Given the description of an element on the screen output the (x, y) to click on. 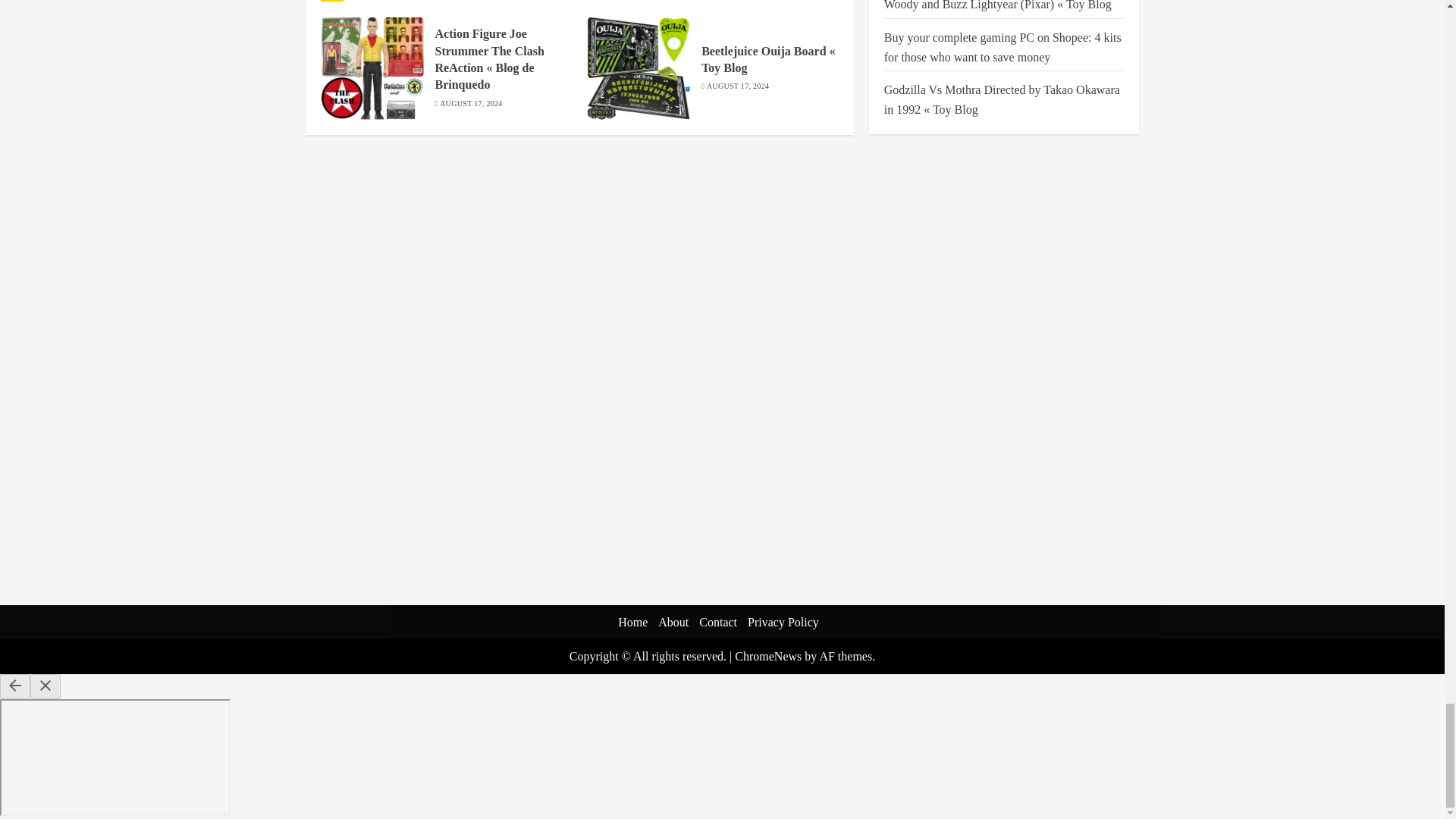
AUGUST 17, 2024 (470, 103)
AUGUST 17, 2024 (737, 86)
Contact (717, 621)
Home (632, 621)
About (673, 621)
